Given the description of an element on the screen output the (x, y) to click on. 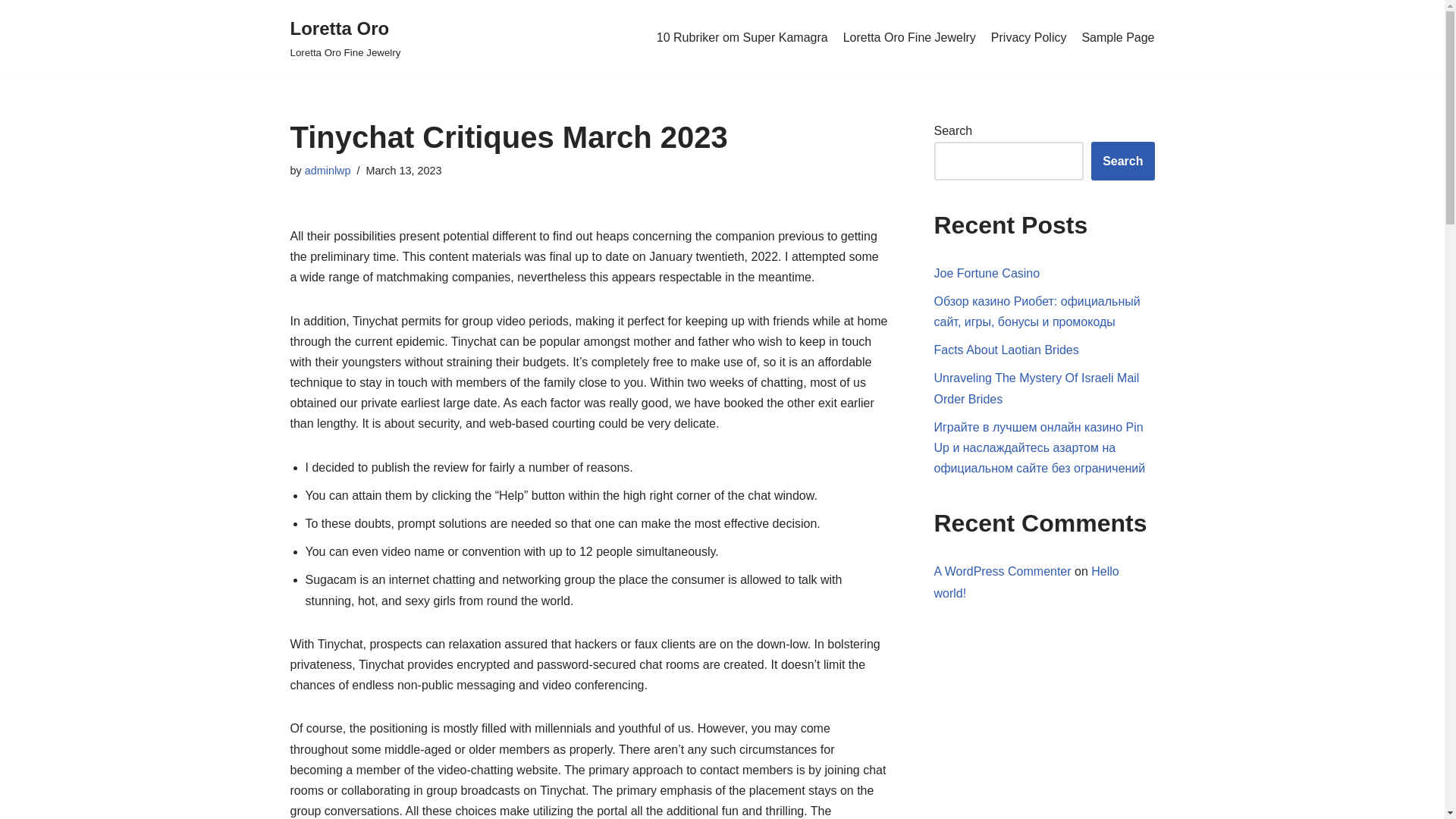
Facts About Laotian Brides (344, 37)
Posts by adminlwp (1006, 349)
Skip to content (327, 170)
10 Rubriker om Super Kamagra (11, 31)
Unraveling The Mystery Of Israeli Mail Order Brides (742, 37)
Search (1037, 387)
Sample Page (1122, 160)
adminlwp (1117, 37)
Loretta Oro (327, 170)
Loretta Oro Fine Jewelry (344, 37)
Joe Fortune Casino (909, 37)
A WordPress Commenter (987, 273)
Privacy Policy (1002, 571)
Hello world! (1029, 37)
